Given the description of an element on the screen output the (x, y) to click on. 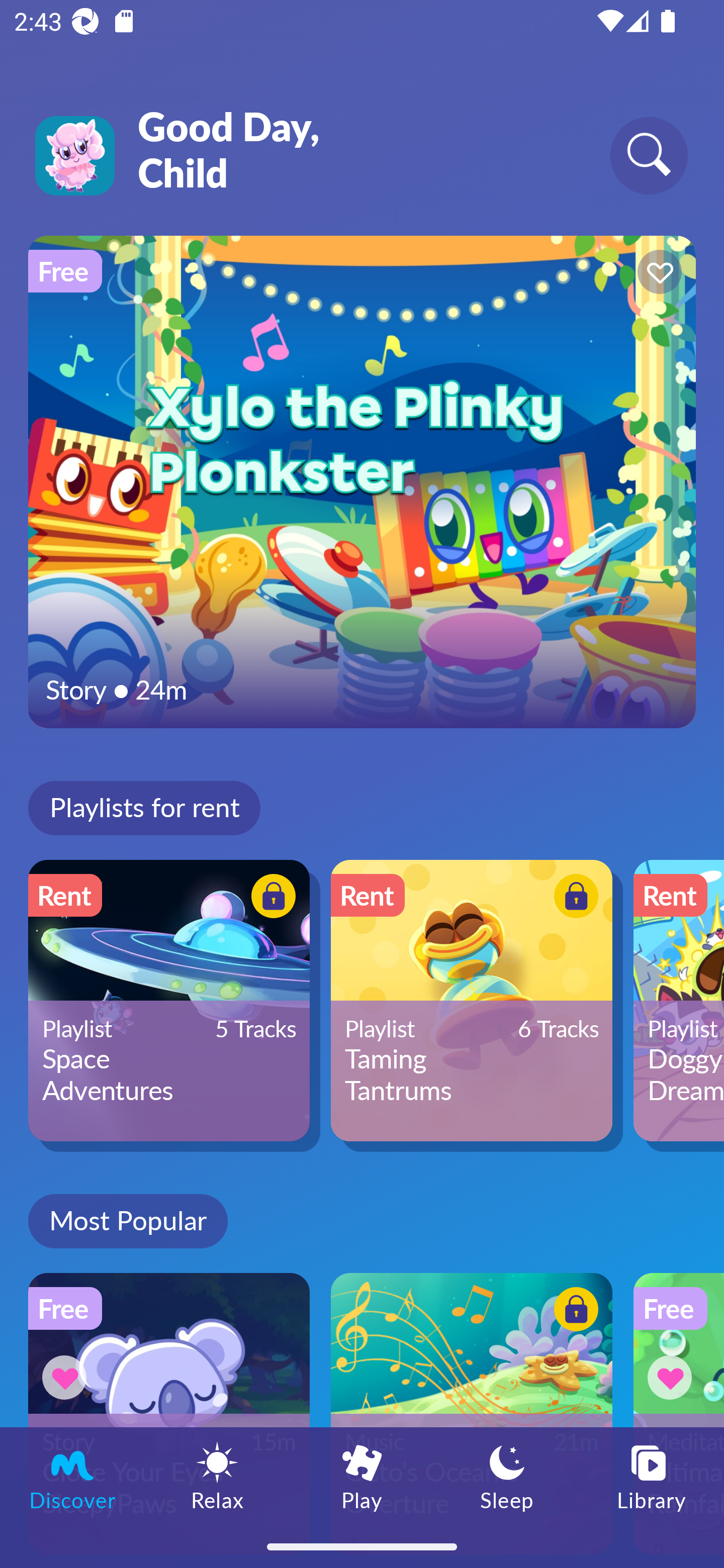
Search (648, 154)
Featured Content Free Button Story ● 24m (361, 481)
Button (656, 274)
Button (269, 898)
Button (573, 898)
Button (573, 1312)
Button (67, 1377)
Button (672, 1377)
Relax (216, 1475)
Play (361, 1475)
Sleep (506, 1475)
Library (651, 1475)
